Given the description of an element on the screen output the (x, y) to click on. 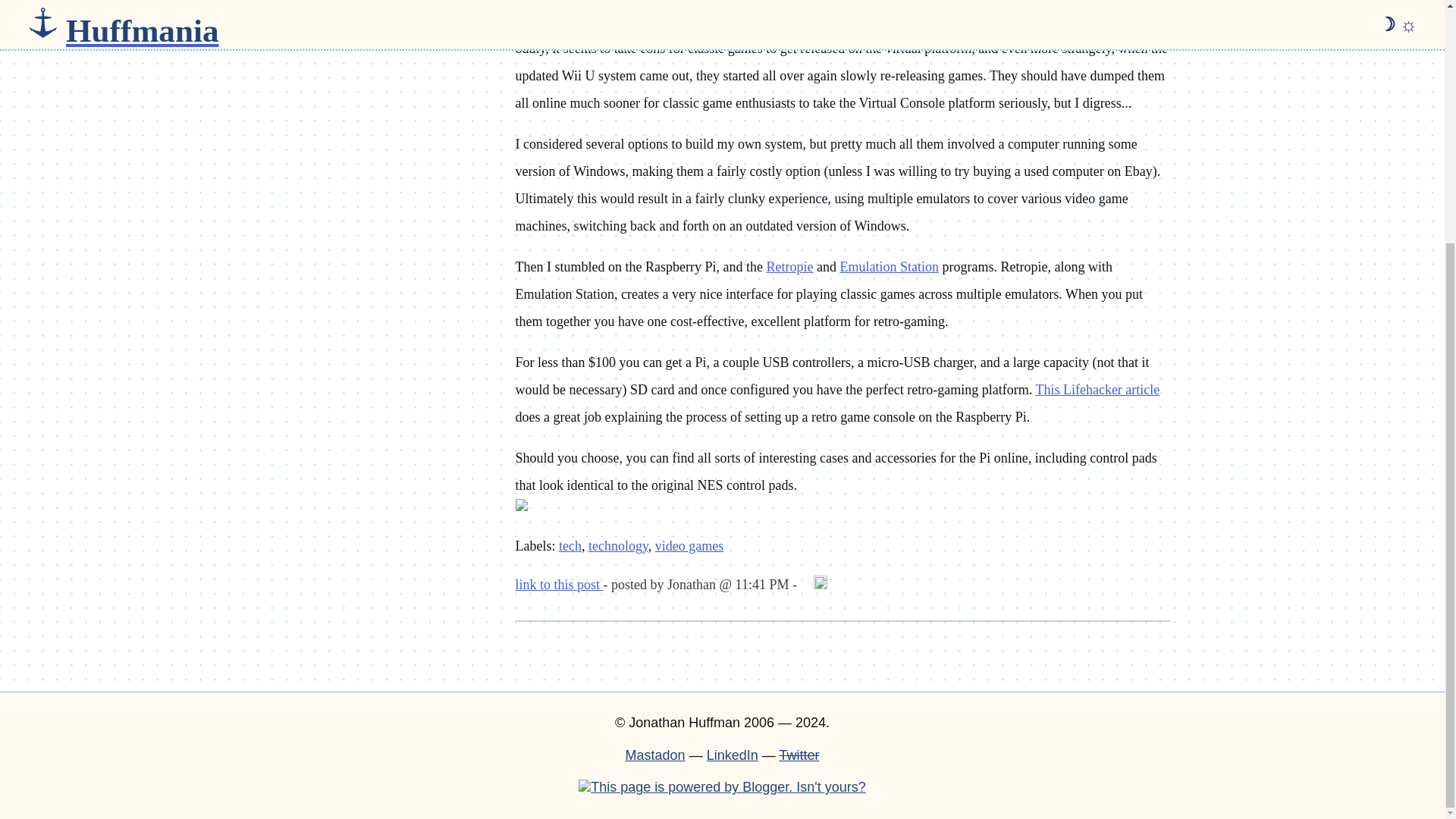
Retropie video game emulation collection for Raspberry Pi (788, 266)
permanent link (559, 584)
Email Post (806, 584)
Edit Post (820, 584)
